Given the description of an element on the screen output the (x, y) to click on. 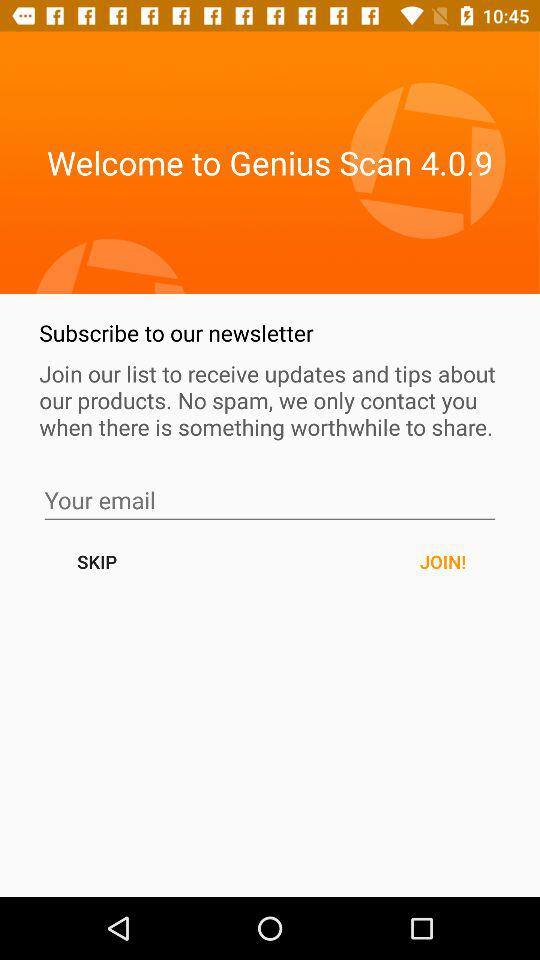
launch icon on the left (96, 561)
